Given the description of an element on the screen output the (x, y) to click on. 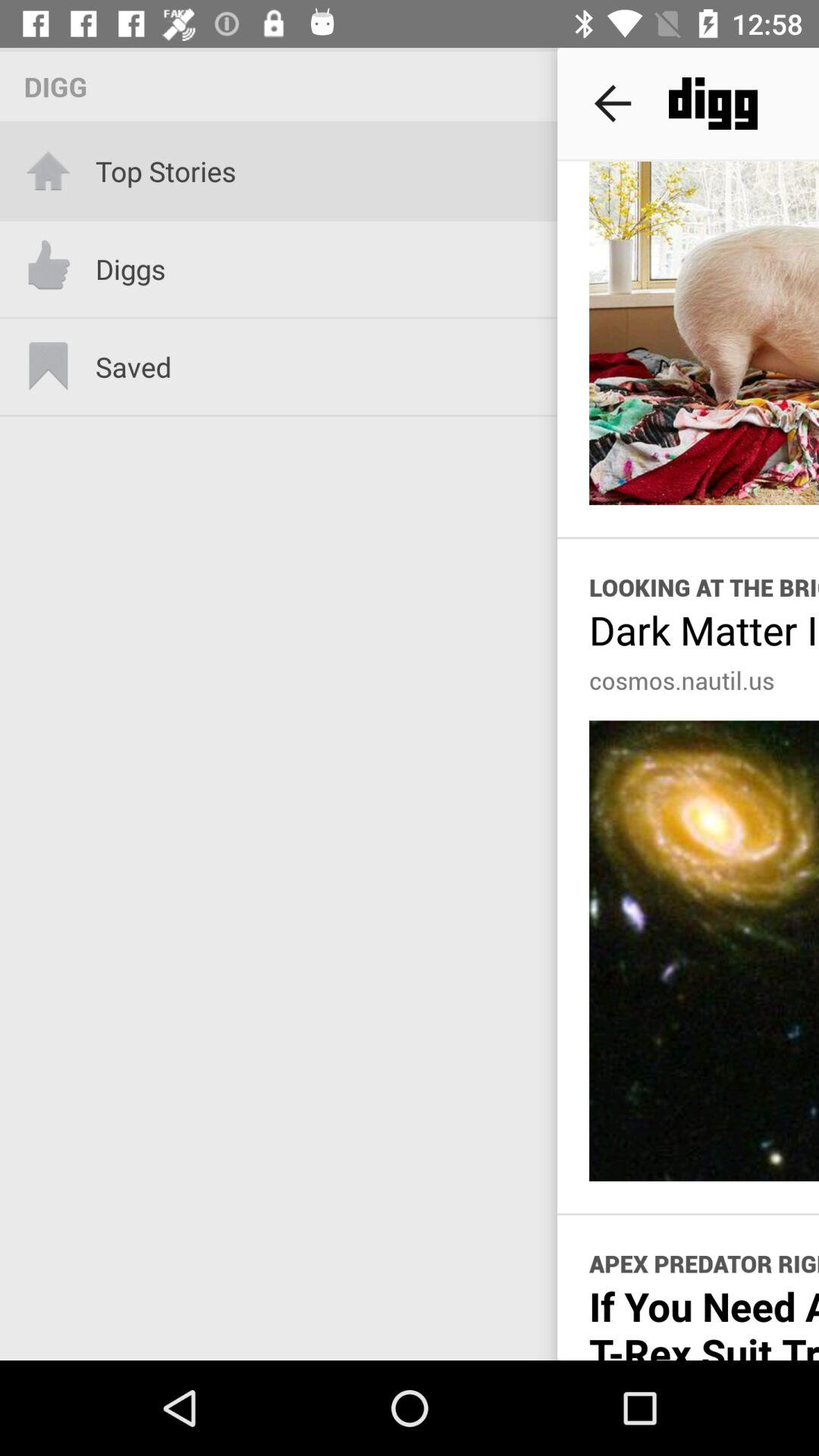
click the cosmos.nautil.us item (681, 680)
